Given the description of an element on the screen output the (x, y) to click on. 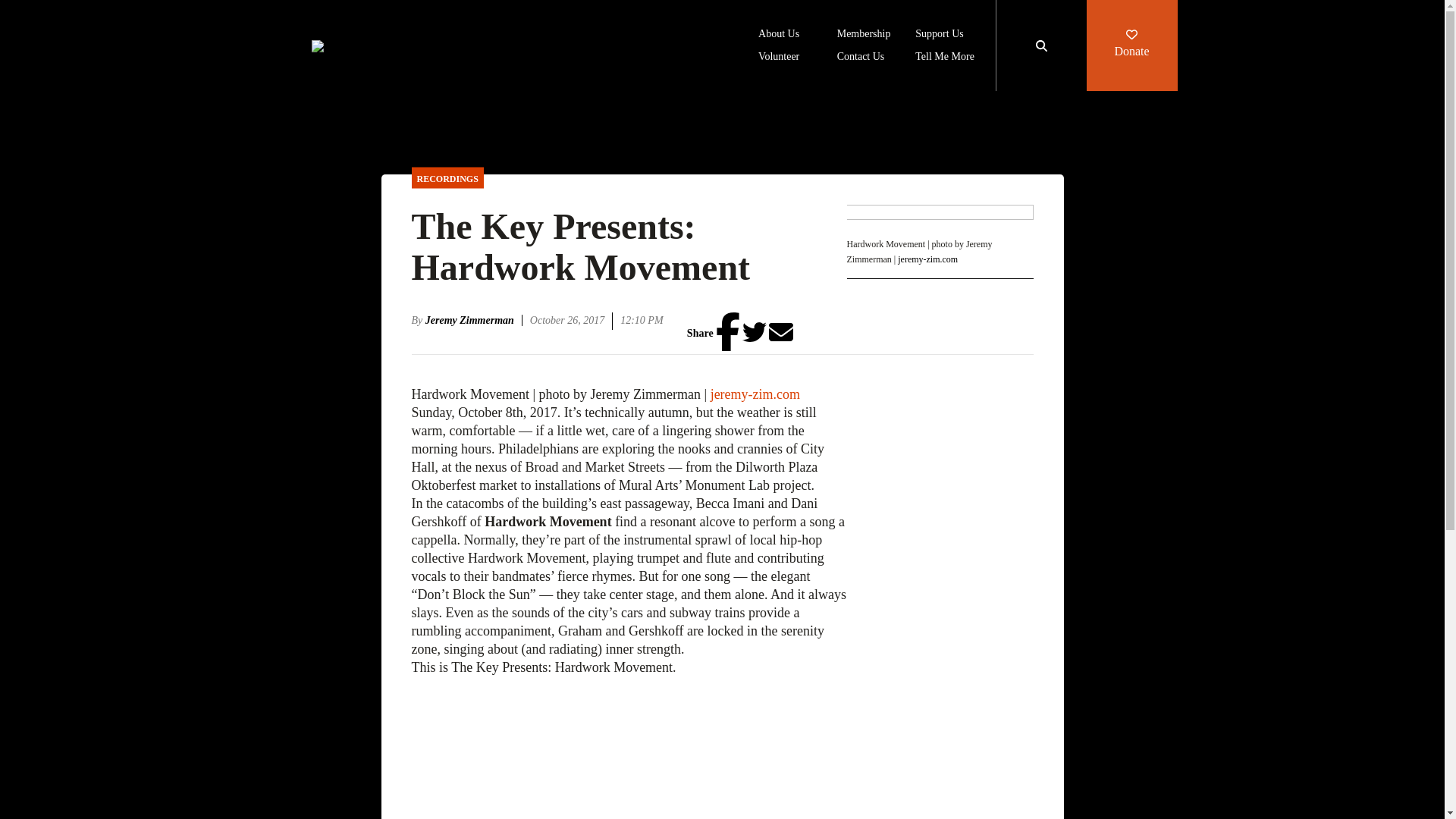
jeremy-zim.com (928, 258)
Membership (864, 35)
The Key Presents: Hardwork Movement - Don't Block the Sun (627, 747)
jeremy-zim.com (754, 394)
Support Us (938, 35)
About Us (778, 35)
Volunteer (778, 57)
Contact Us (861, 57)
Jeremy Zimmerman (473, 319)
Donate (1131, 45)
Tell Me More (944, 57)
